Given the description of an element on the screen output the (x, y) to click on. 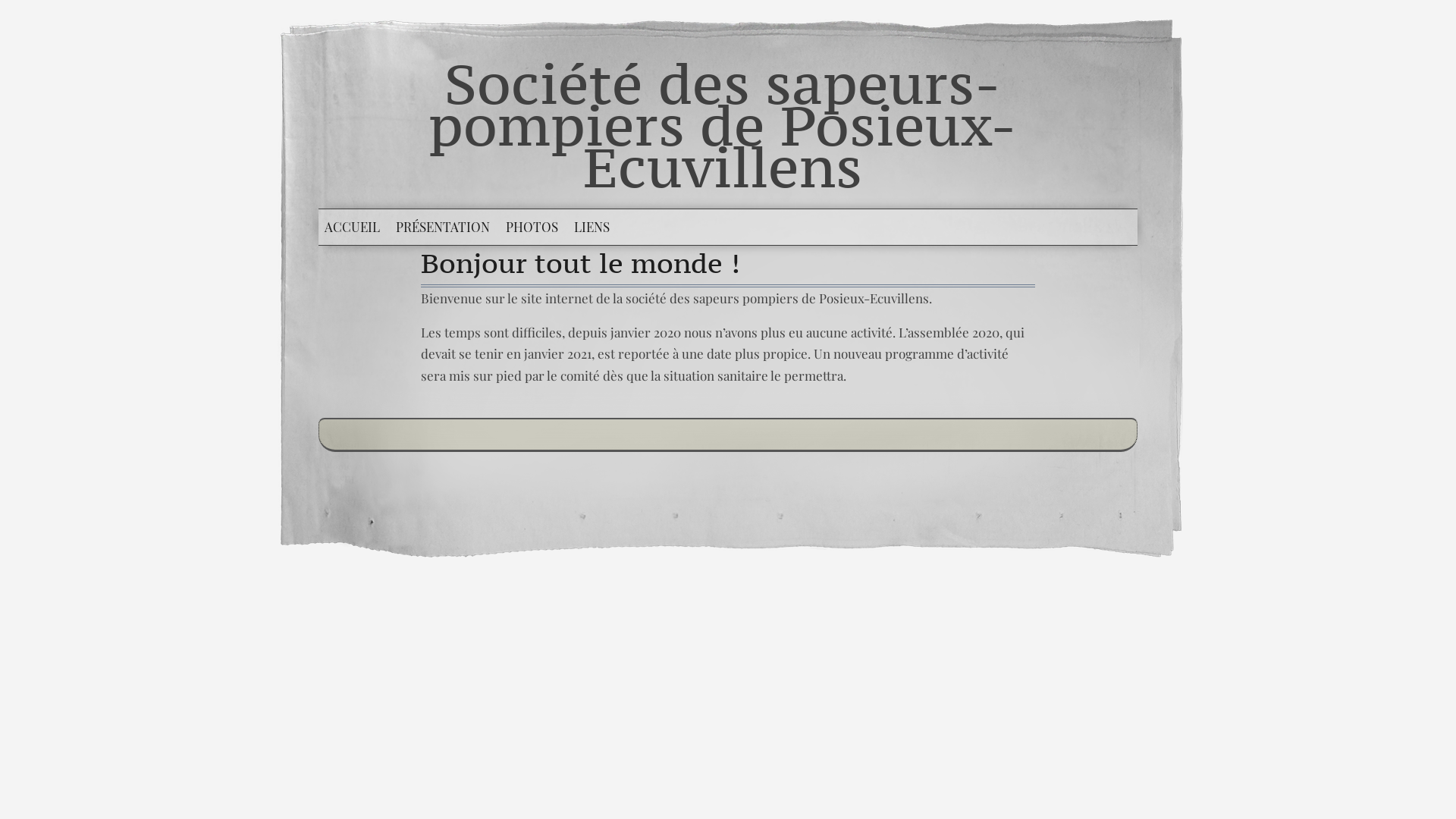
ACCUEIL Element type: text (351, 226)
LIENS Element type: text (591, 226)
PHOTOS Element type: text (531, 226)
